Given the description of an element on the screen output the (x, y) to click on. 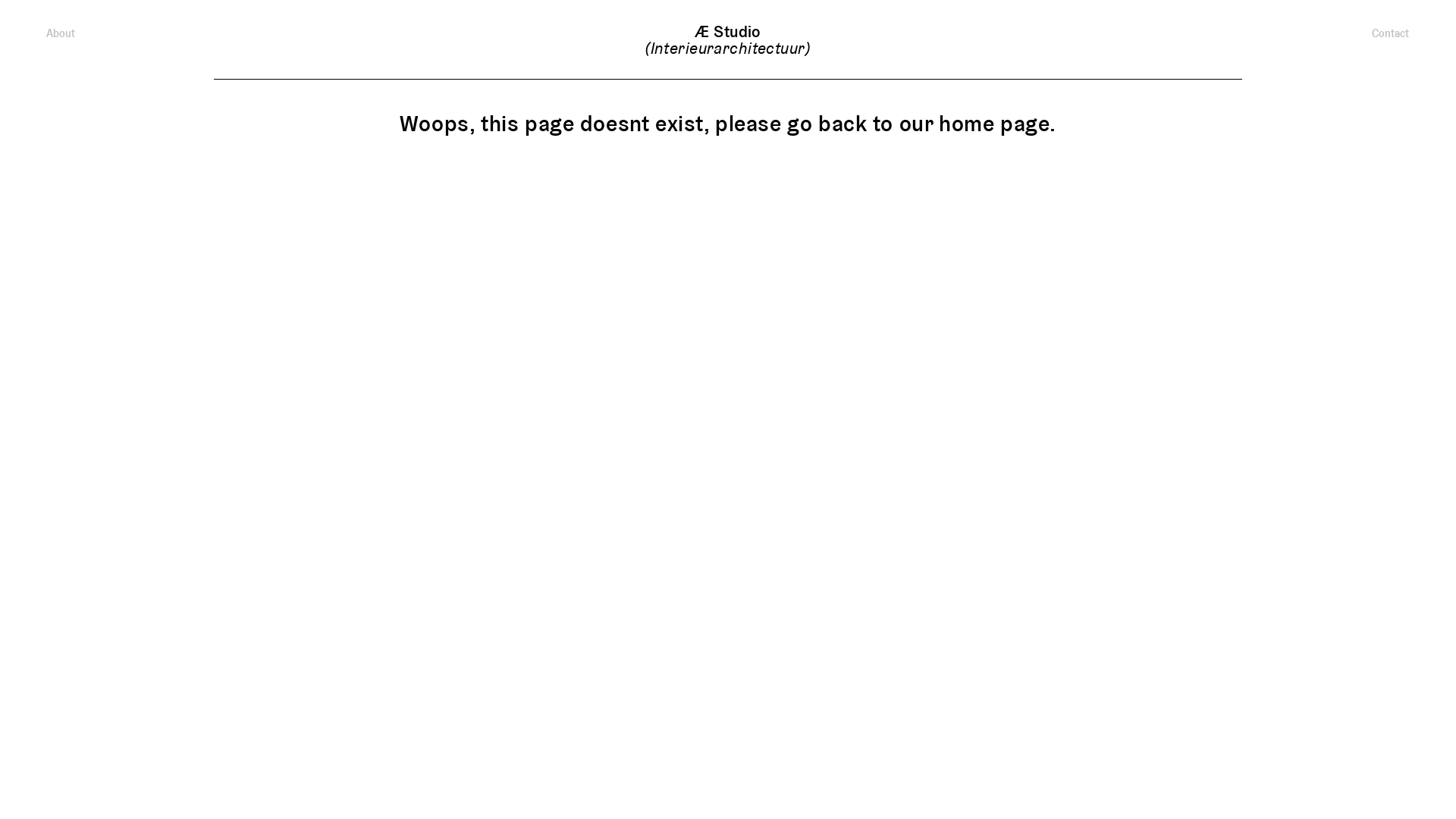
Contact Element type: text (1315, 33)
About Element type: text (138, 33)
